Given the description of an element on the screen output the (x, y) to click on. 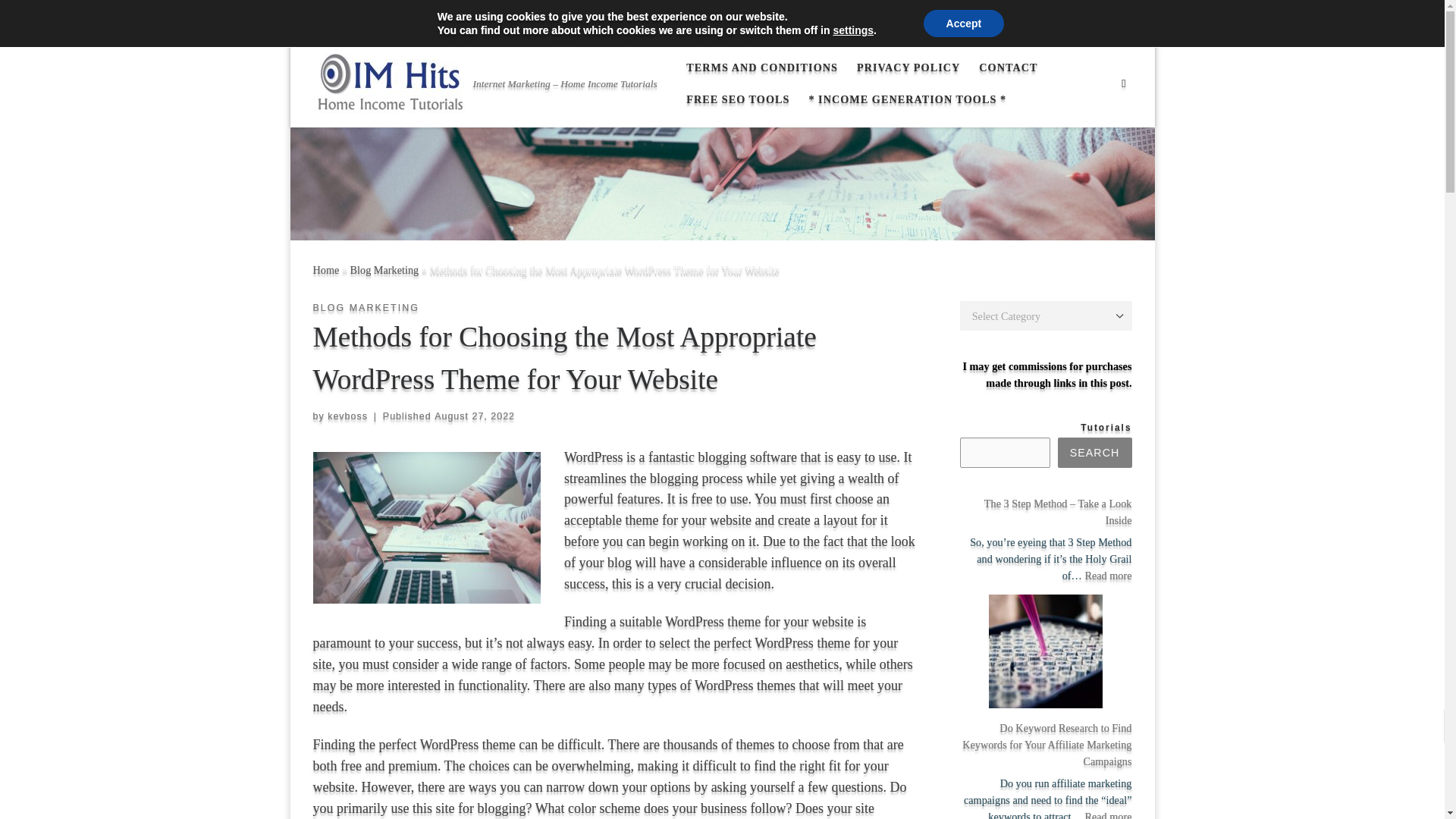
FREE SEO TOOLS (737, 99)
kevboss (347, 416)
View all posts in Blog Marketing (366, 308)
PRIVACY POLICY (908, 67)
Skip to content (57, 20)
Blog Marketing (384, 269)
Home (326, 269)
IM Hits (326, 269)
Privacy Policy (472, 21)
TERMS AND CONDITIONS (762, 67)
BLOG MARKETING (366, 308)
August 27, 2022 (474, 416)
View all posts by kevboss (347, 416)
Terms and Conditions (367, 21)
Contact (540, 21)
